Given the description of an element on the screen output the (x, y) to click on. 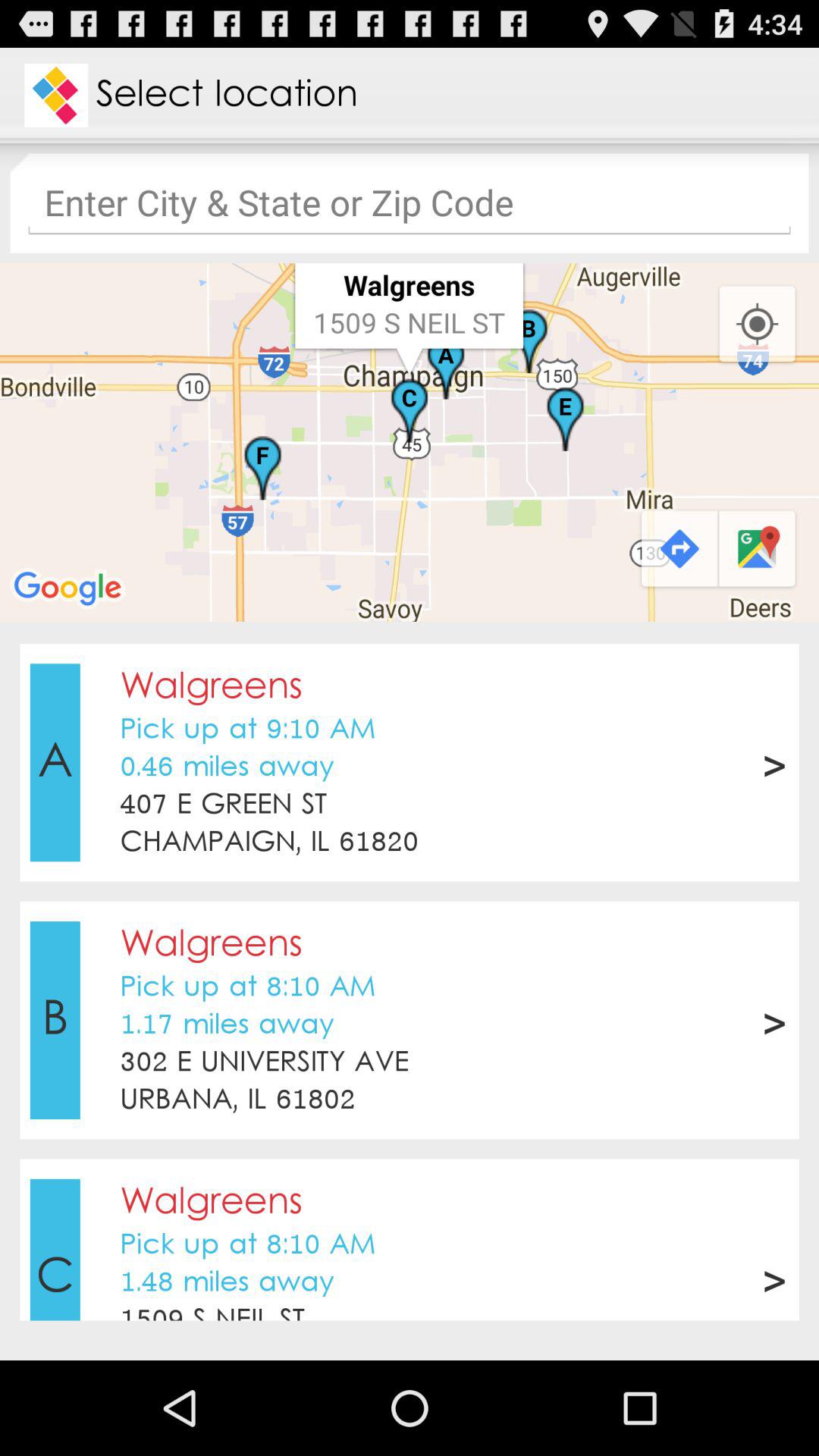
flip to 302 e university icon (264, 1062)
